Given the description of an element on the screen output the (x, y) to click on. 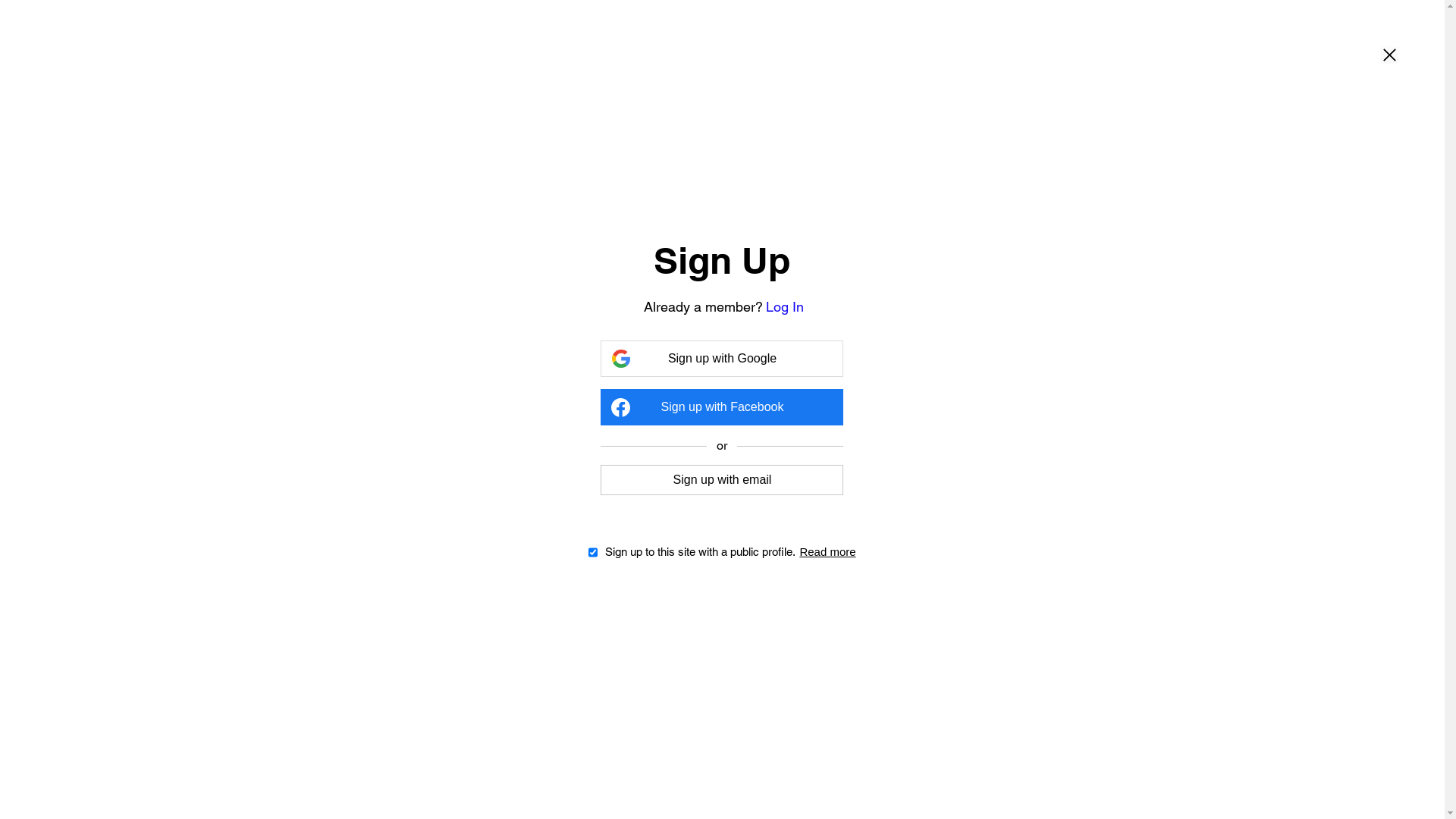
Sign up with Google Element type: text (721, 358)
Sign up with email Element type: text (721, 479)
Read more Element type: text (827, 551)
Sign up with Facebook Element type: text (721, 407)
Log In Element type: text (784, 306)
